Given the description of an element on the screen output the (x, y) to click on. 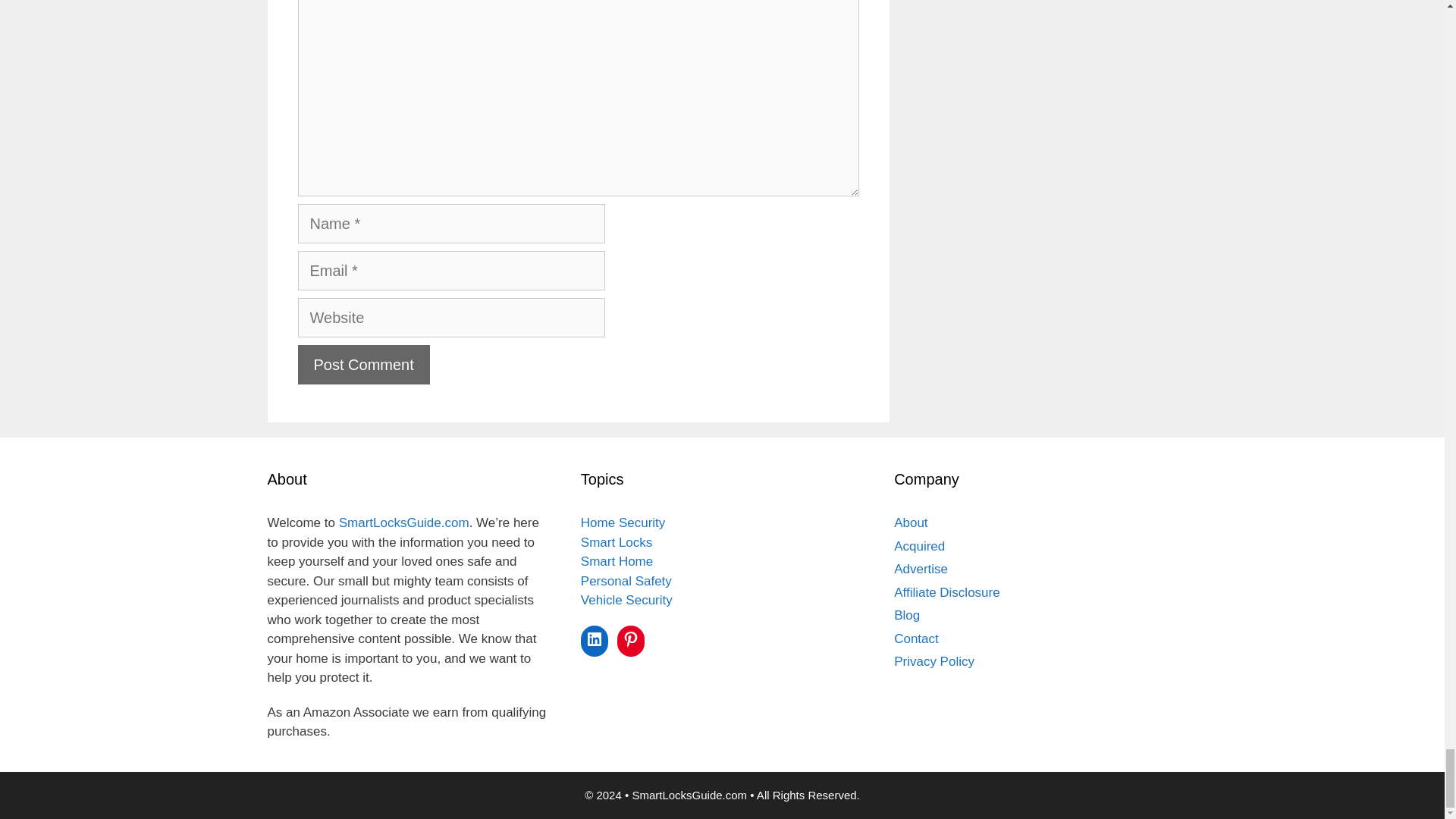
Post Comment (363, 364)
